Given the description of an element on the screen output the (x, y) to click on. 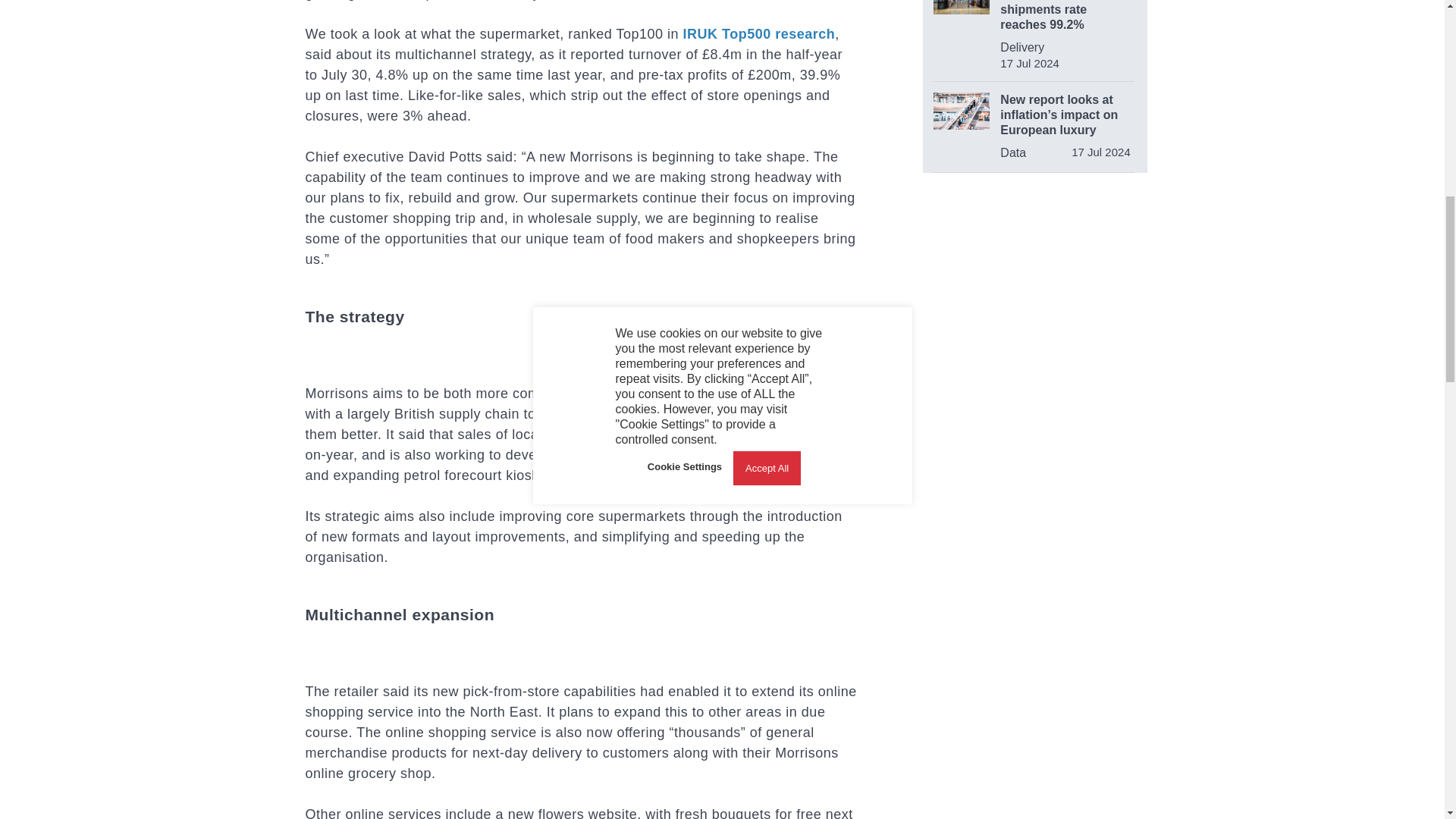
3rd party ad content (1034, 289)
3rd party ad content (1035, 502)
